Given the description of an element on the screen output the (x, y) to click on. 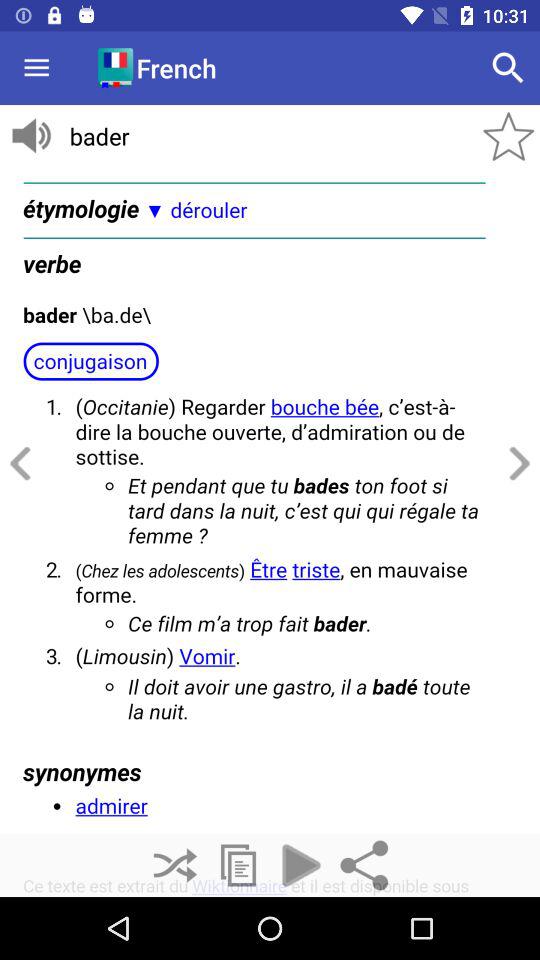
next pega (516, 463)
